Given the description of an element on the screen output the (x, y) to click on. 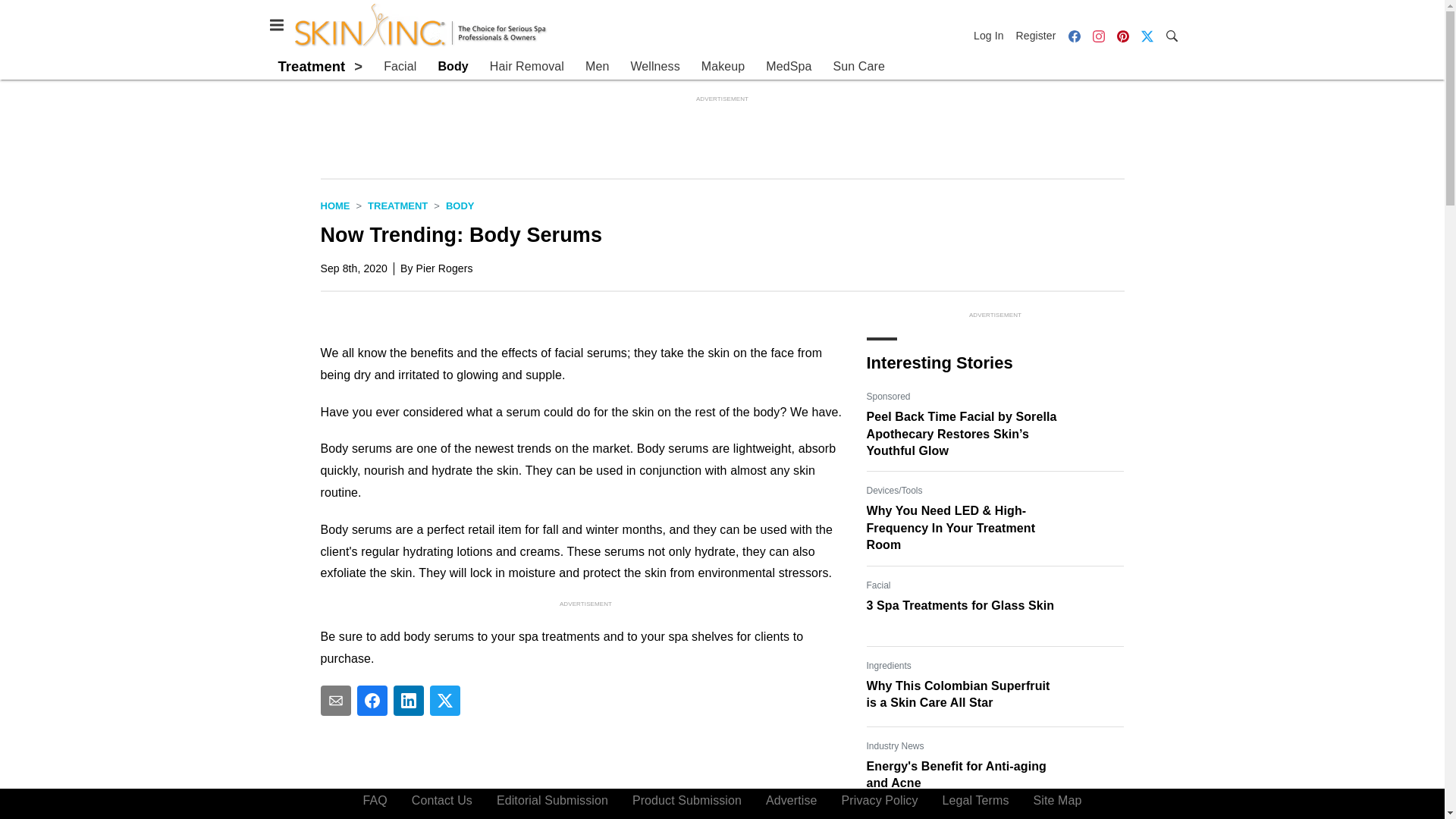
MedSpa (787, 66)
Men (596, 66)
Share To linkedin (408, 700)
Body (459, 205)
Home (334, 205)
Sponsored (888, 396)
Share To email (335, 700)
Pinterest icon (1121, 35)
Search (1170, 34)
Instagram icon (1097, 36)
